Given the description of an element on the screen output the (x, y) to click on. 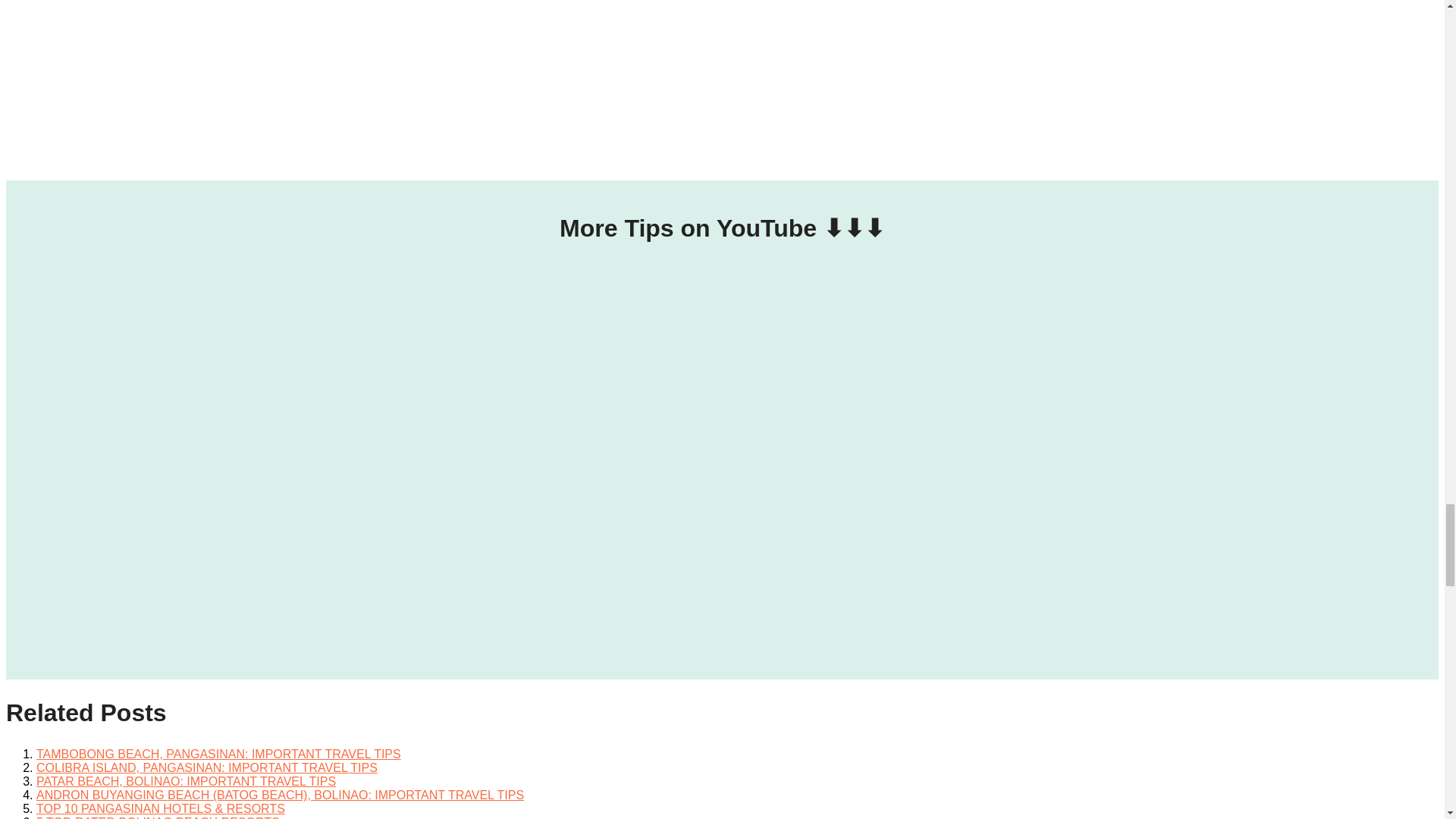
PATAR BEACH, BOLINAO: IMPORTANT TRAVEL TIPS (186, 780)
TAMBOBONG BEACH, PANGASINAN: IMPORTANT TRAVEL TIPS (218, 753)
COLIBRA ISLAND, PANGASINAN: IMPORTANT TRAVEL TIPS (206, 767)
YouTube video player (721, 399)
